Given the description of an element on the screen output the (x, y) to click on. 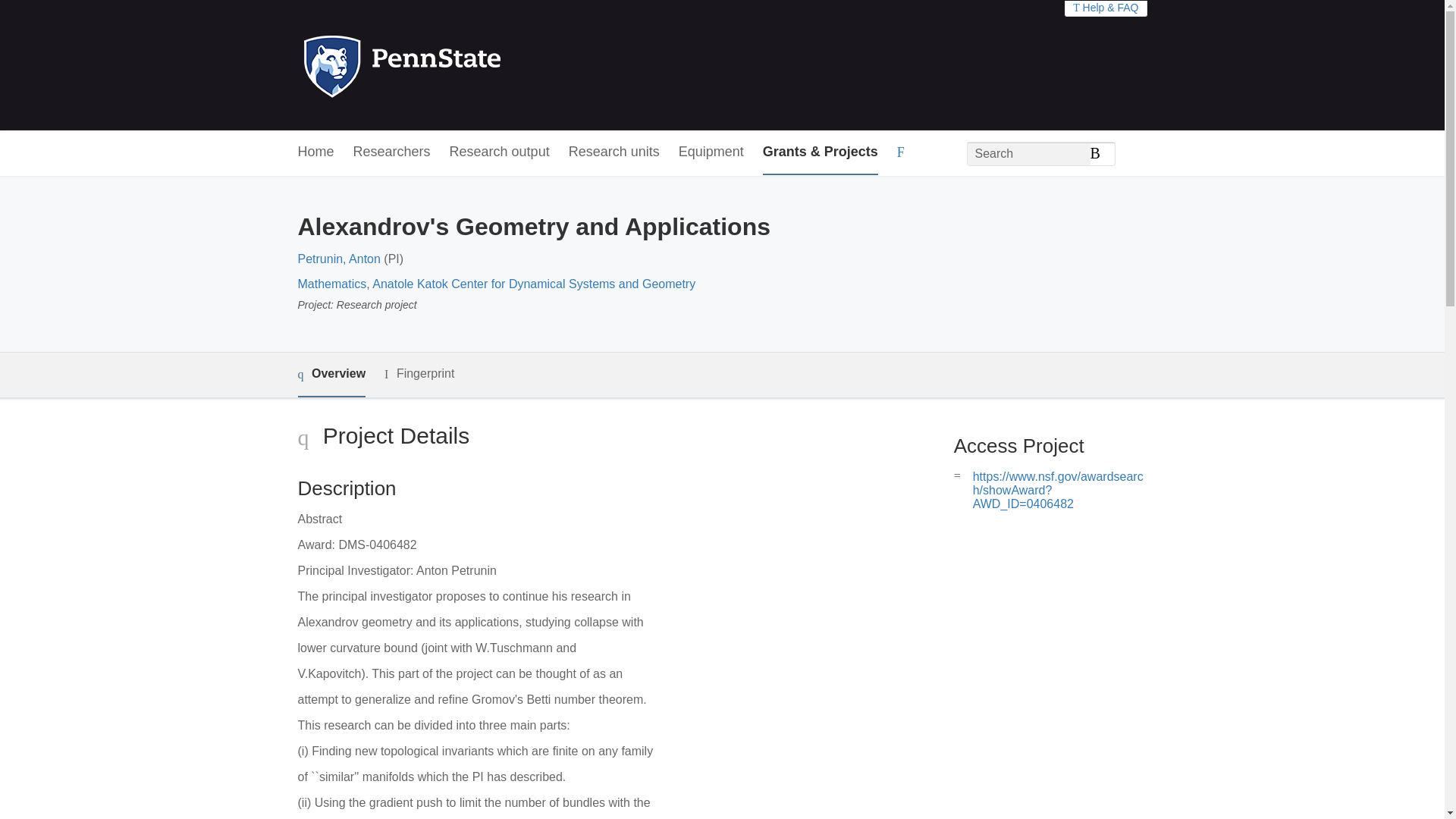
Fingerprint (419, 373)
Mathematics (331, 283)
Equipment (711, 152)
Penn State Home (467, 65)
Petrunin, Anton (338, 258)
Research output (499, 152)
Anatole Katok Center for Dynamical Systems and Geometry (533, 283)
Overview (331, 374)
Researchers (391, 152)
